Given the description of an element on the screen output the (x, y) to click on. 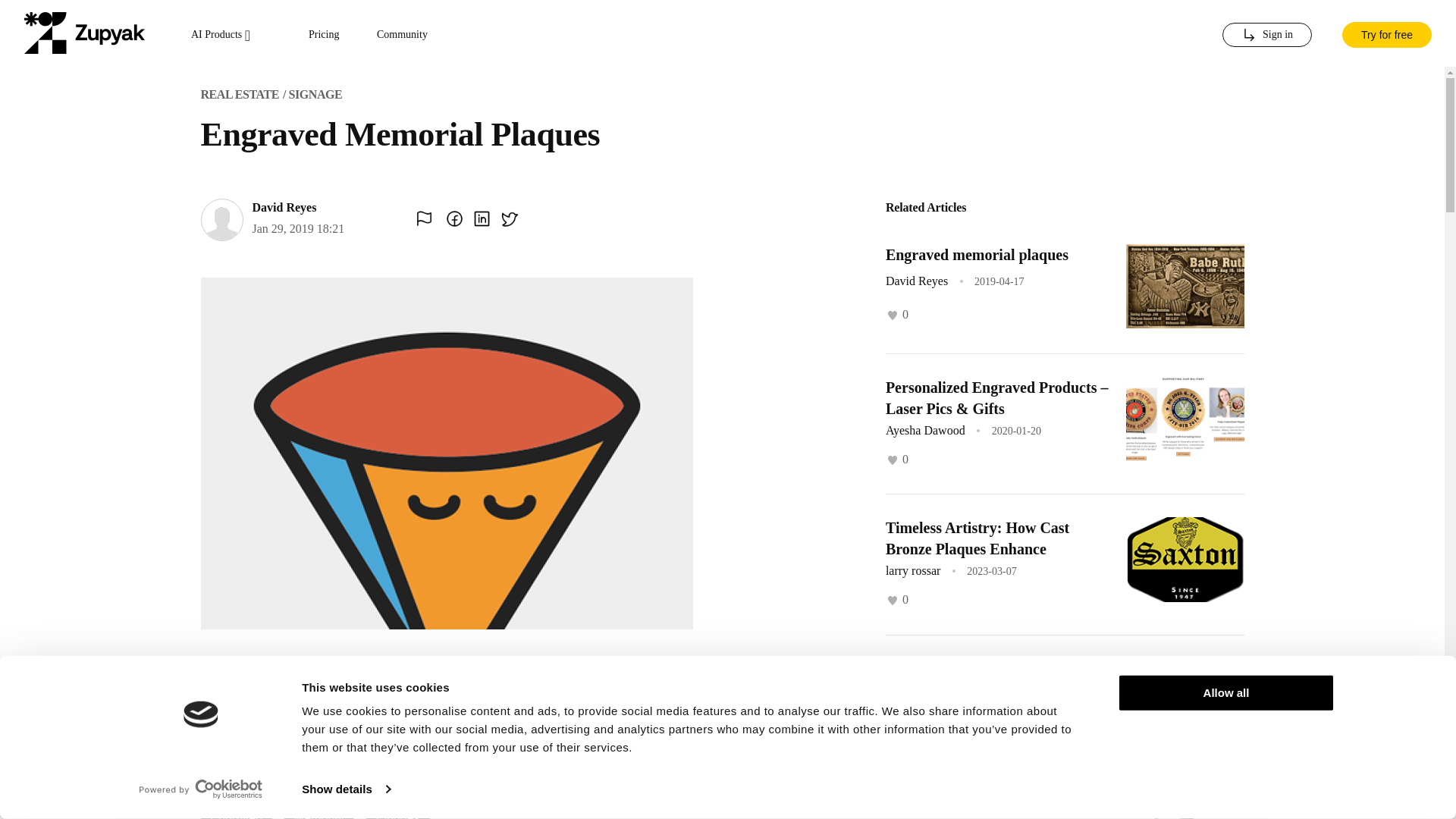
Engraved memorial plaques (976, 254)
Show details (345, 789)
Choose Best Place for Classic and Ultimate Range of Trophies (994, 809)
